Given the description of an element on the screen output the (x, y) to click on. 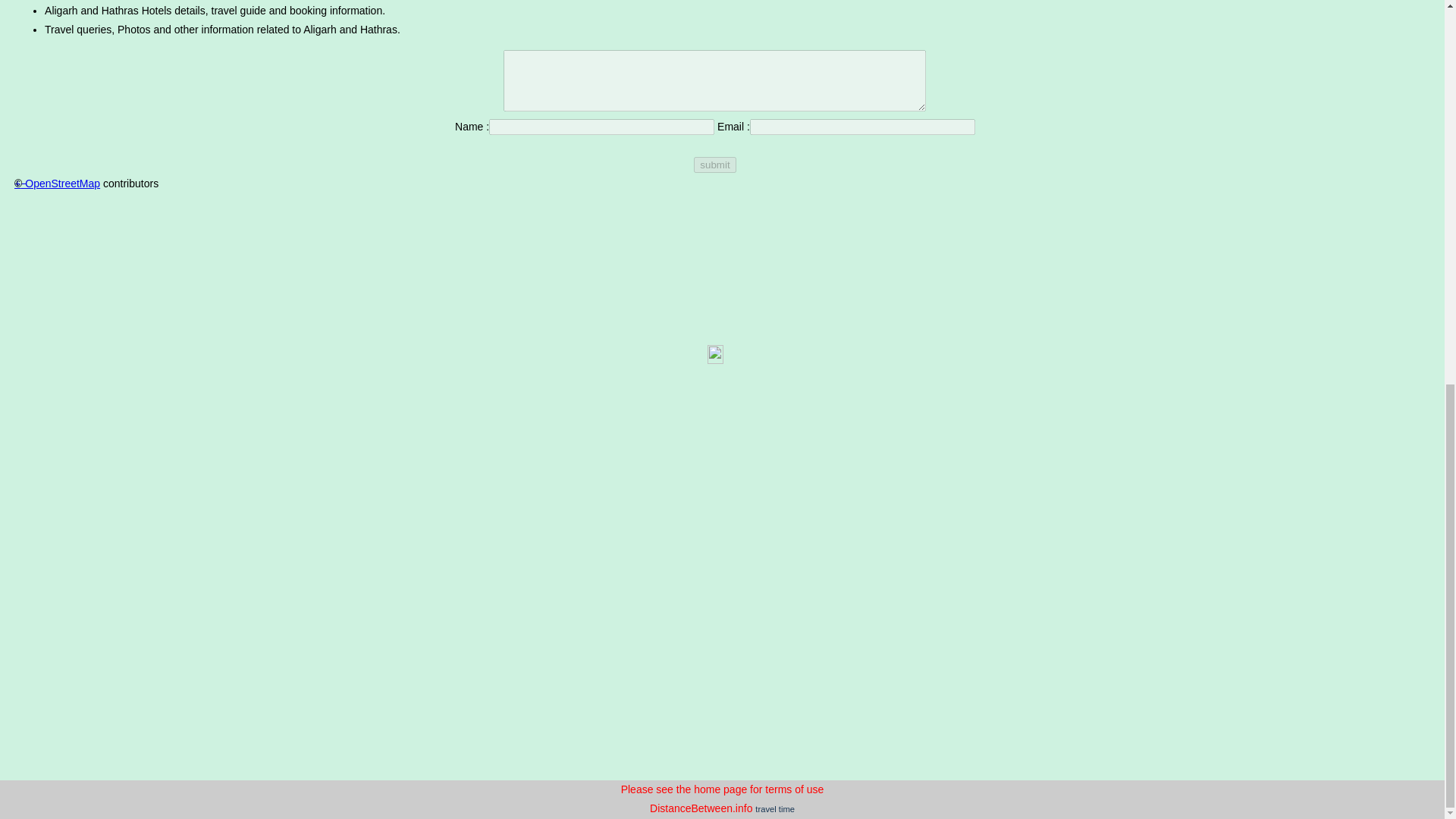
submit (714, 164)
submit (714, 164)
OpenStreetMap (62, 183)
travel time (774, 809)
